Given the description of an element on the screen output the (x, y) to click on. 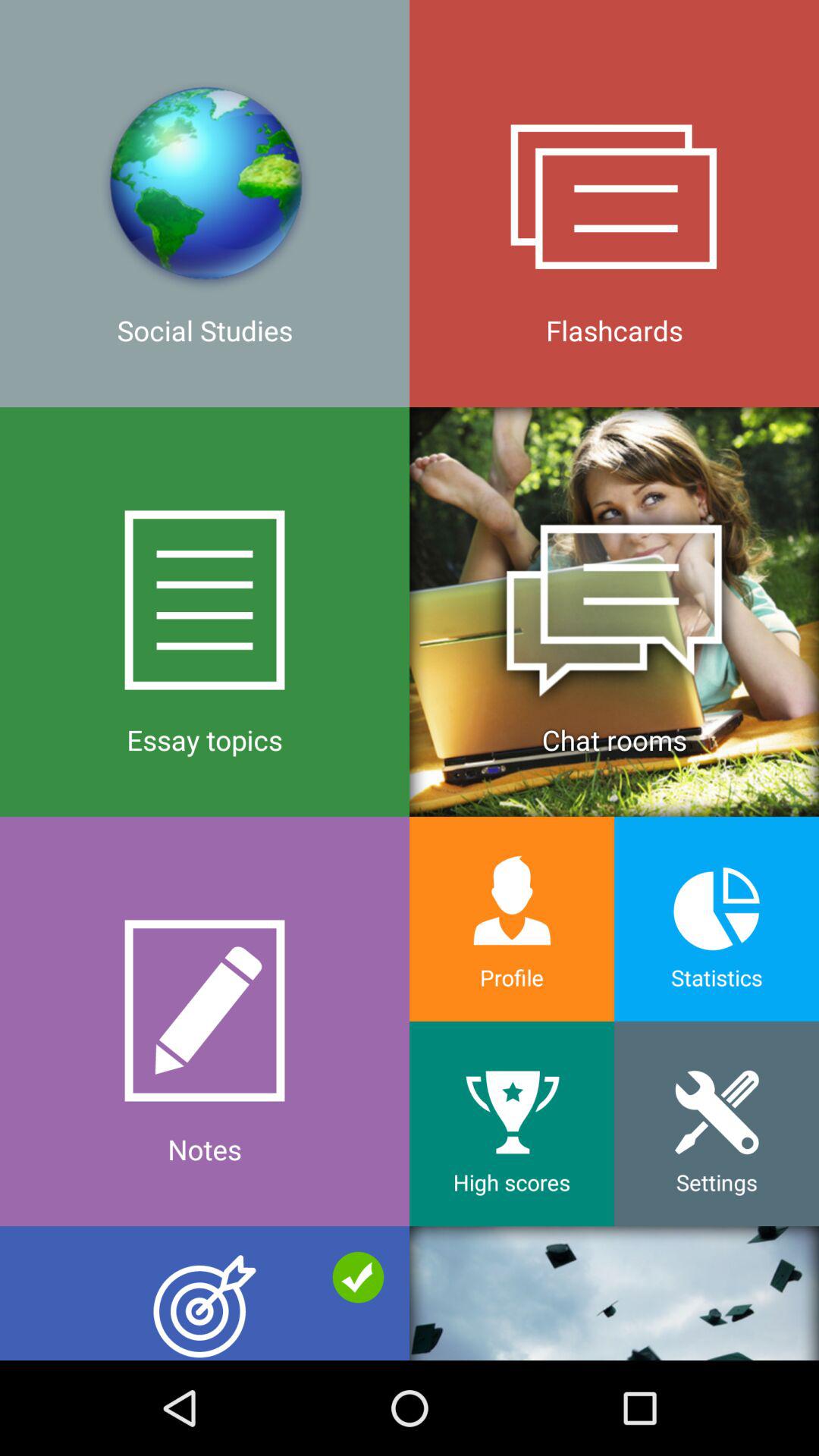
choose app below the chat rooms icon (716, 918)
